Given the description of an element on the screen output the (x, y) to click on. 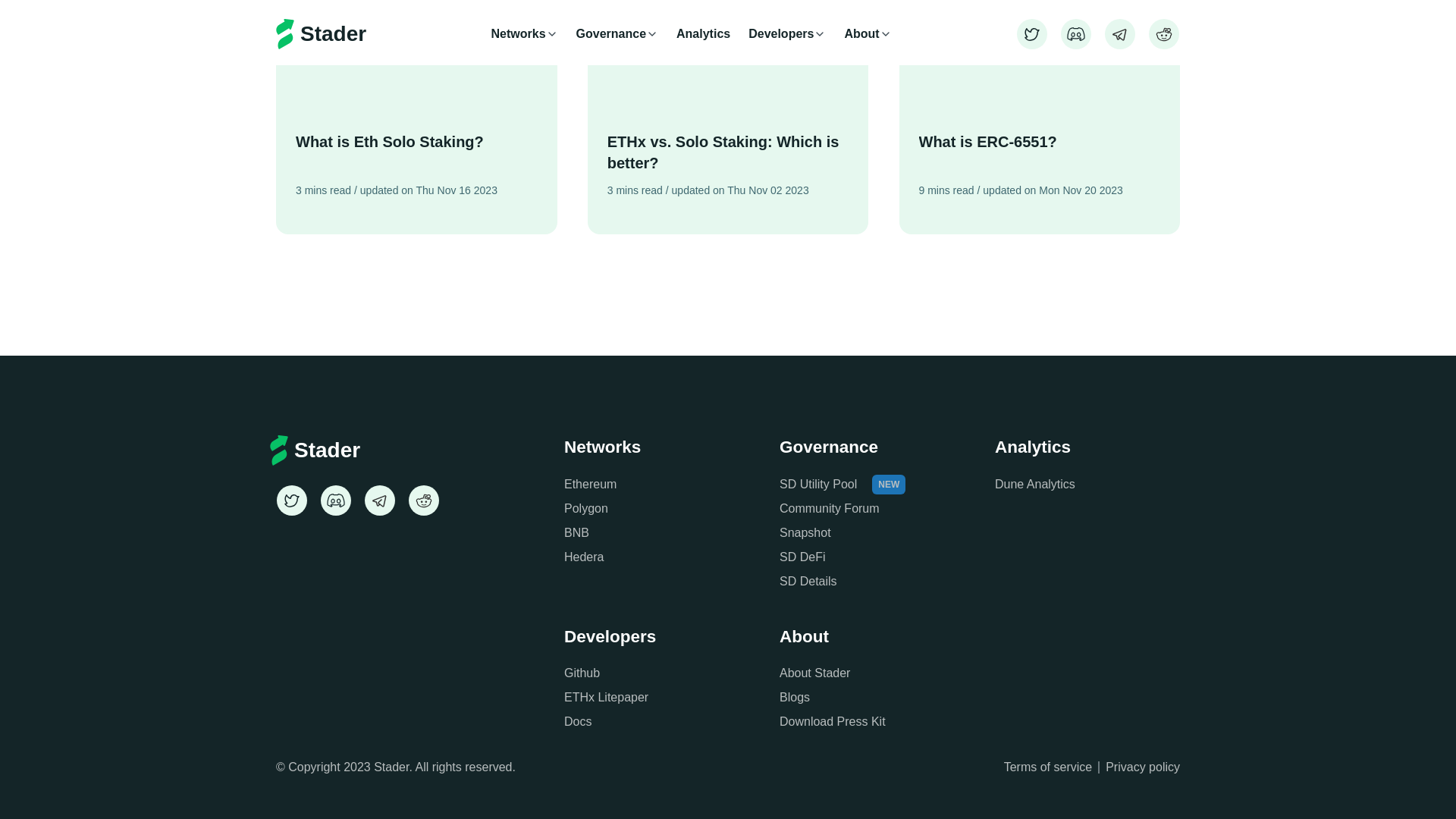
Dune Analytics (1034, 484)
Docs (577, 721)
Github (581, 672)
Stader (357, 450)
Hedera (584, 557)
SD Utility Pool (817, 484)
Terms of service (1048, 767)
ETHx Litepaper (605, 697)
BNB (576, 532)
SD DeFi (801, 557)
